Given the description of an element on the screen output the (x, y) to click on. 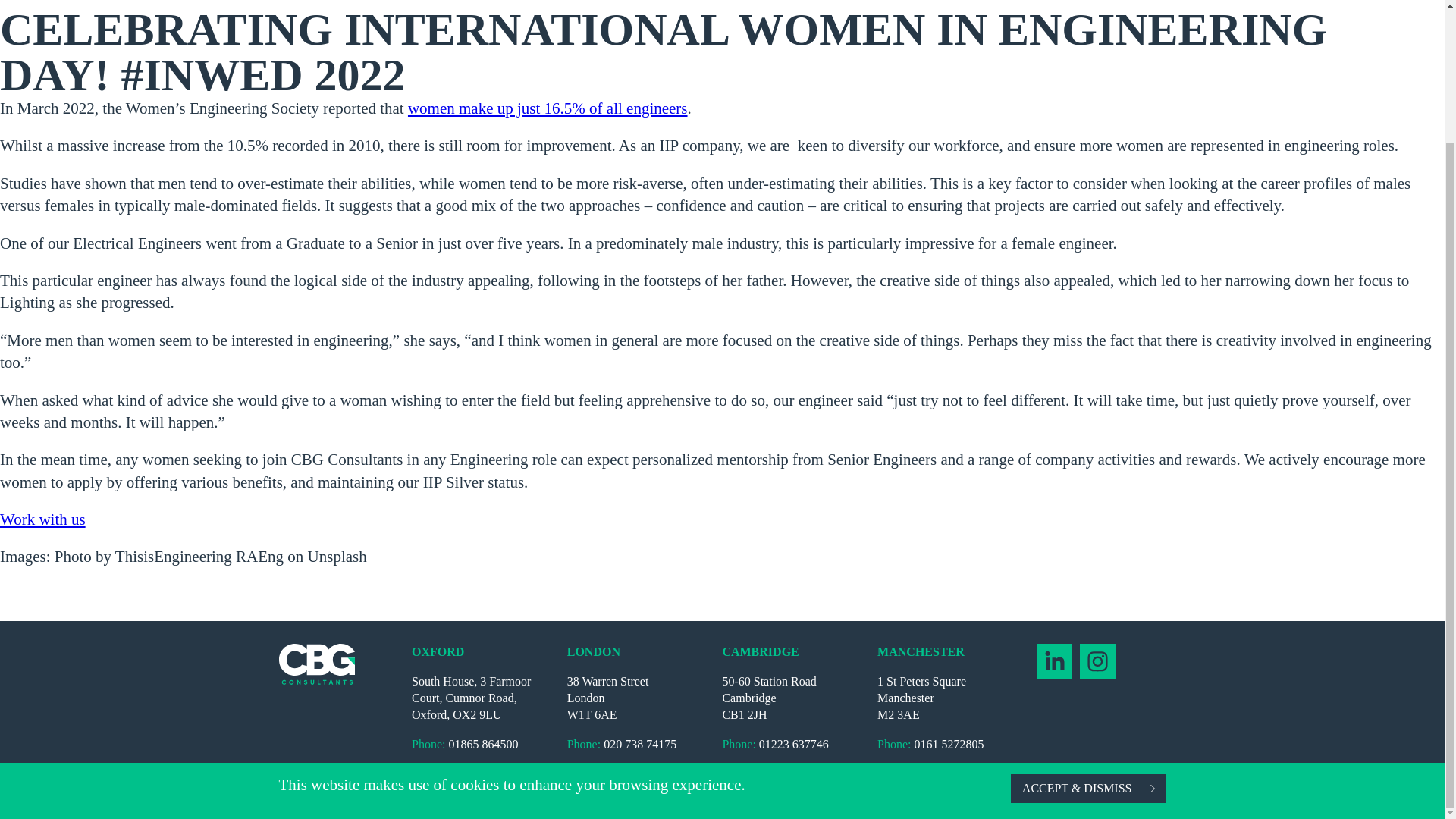
Work with us (42, 519)
One (611, 788)
Privacy Policy (544, 788)
